Given the description of an element on the screen output the (x, y) to click on. 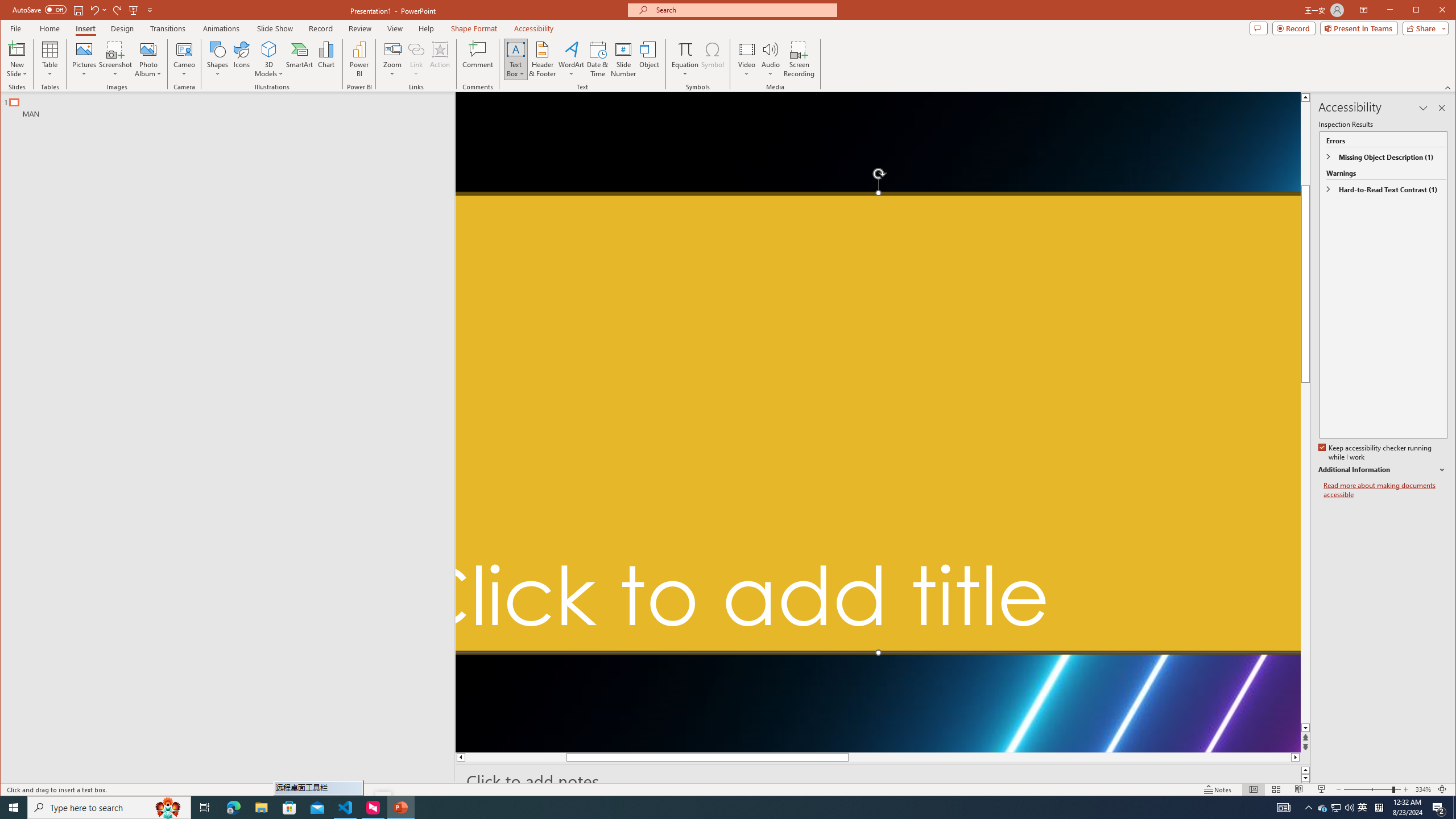
Neon laser lights aligned to form a triangle (877, 421)
Equation (685, 48)
Comment (478, 59)
Video (746, 59)
